Given the description of an element on the screen output the (x, y) to click on. 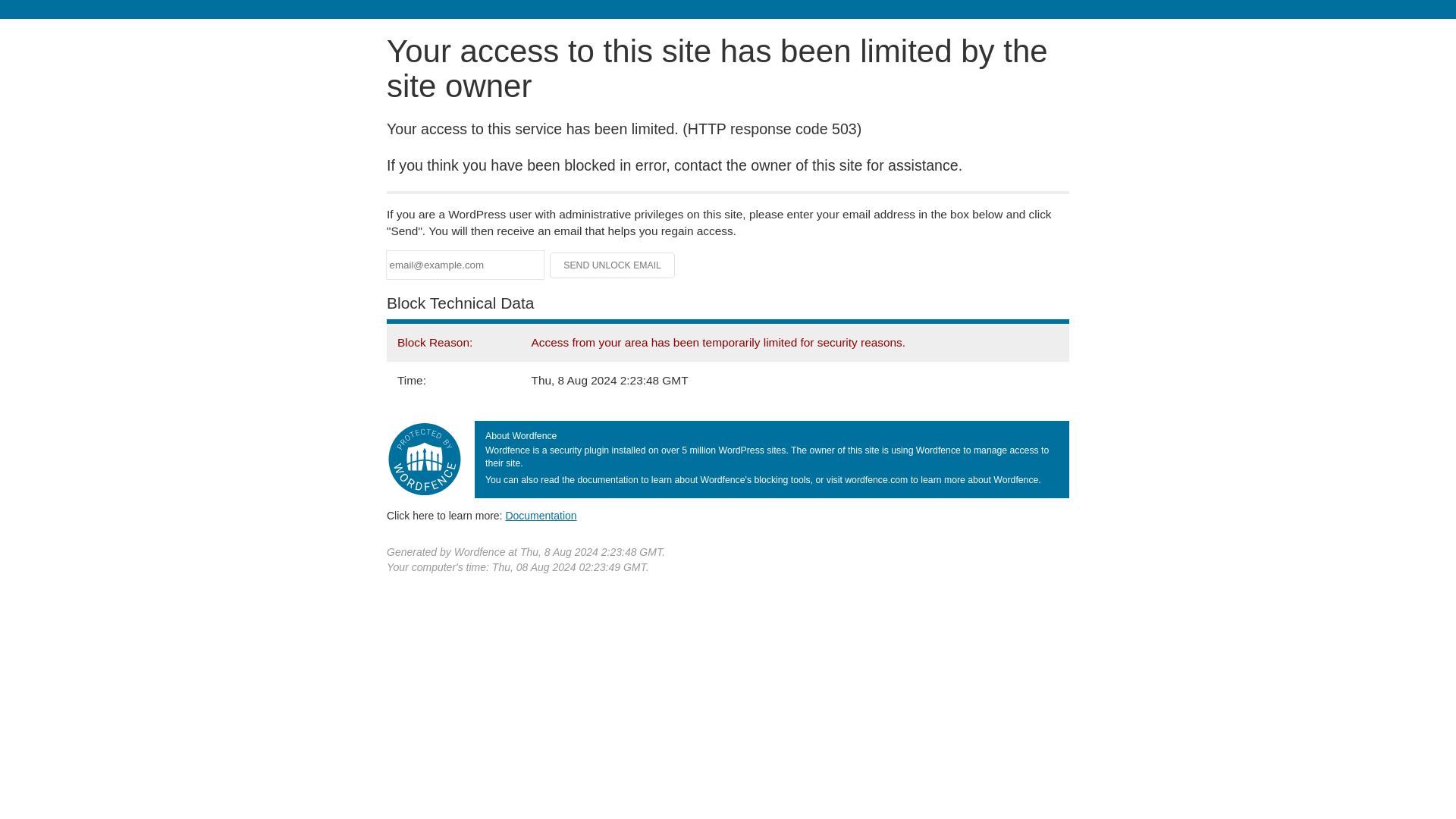
Documentation (540, 515)
Send Unlock Email (612, 265)
Send Unlock Email (612, 265)
